Given the description of an element on the screen output the (x, y) to click on. 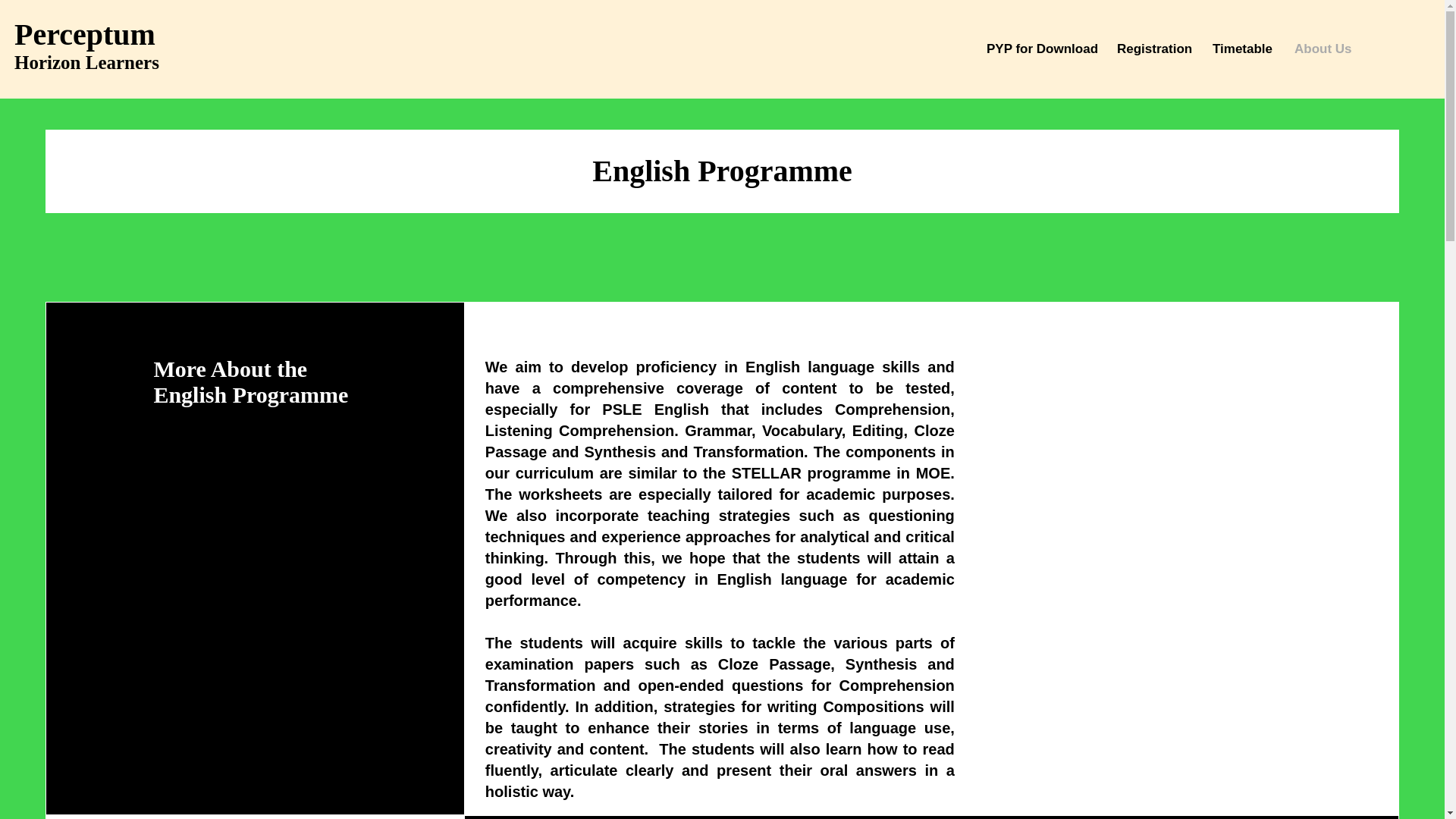
About Us (1320, 49)
Perceptum  (88, 34)
Timetable (1241, 49)
PYP for Download (1040, 49)
Registration (1153, 49)
